Given the description of an element on the screen output the (x, y) to click on. 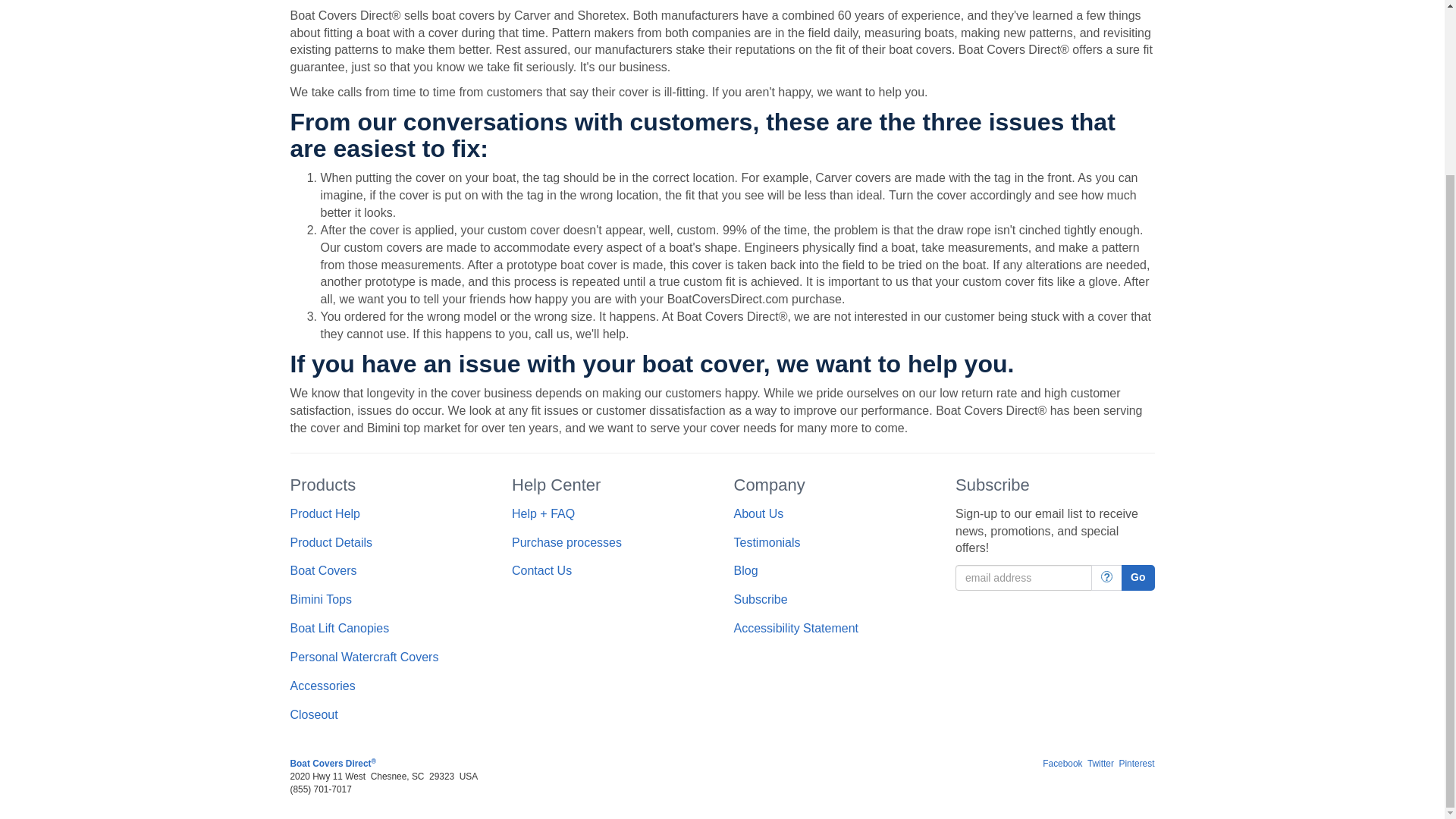
Jet Ski Covers (363, 656)
A fabric roof for your boat lift. (338, 627)
More Info (1106, 577)
